Given the description of an element on the screen output the (x, y) to click on. 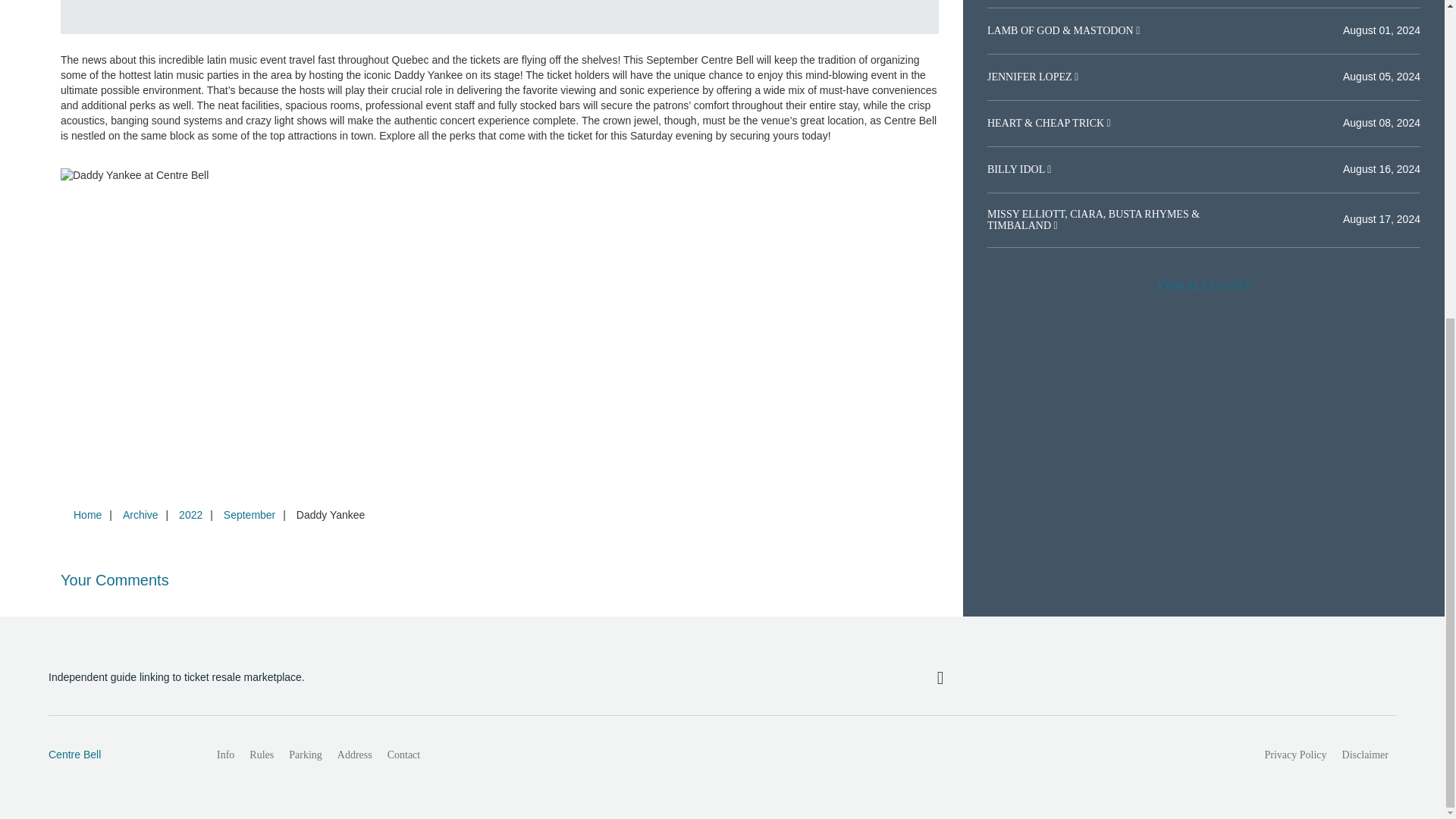
2022 (190, 514)
Parking (305, 755)
Info (225, 755)
Privacy Policy (1296, 755)
Centre Bell (116, 754)
Address (355, 755)
Rules (261, 755)
Home (87, 514)
Daddy Yankee at Centre Bell tickets (500, 175)
September (248, 514)
Archive (140, 514)
Disclaimer (1365, 755)
Daddy Yankee at Centre Bell (864, 17)
Contact (404, 755)
VIEW ALL EVENTS (1203, 286)
